Given the description of an element on the screen output the (x, y) to click on. 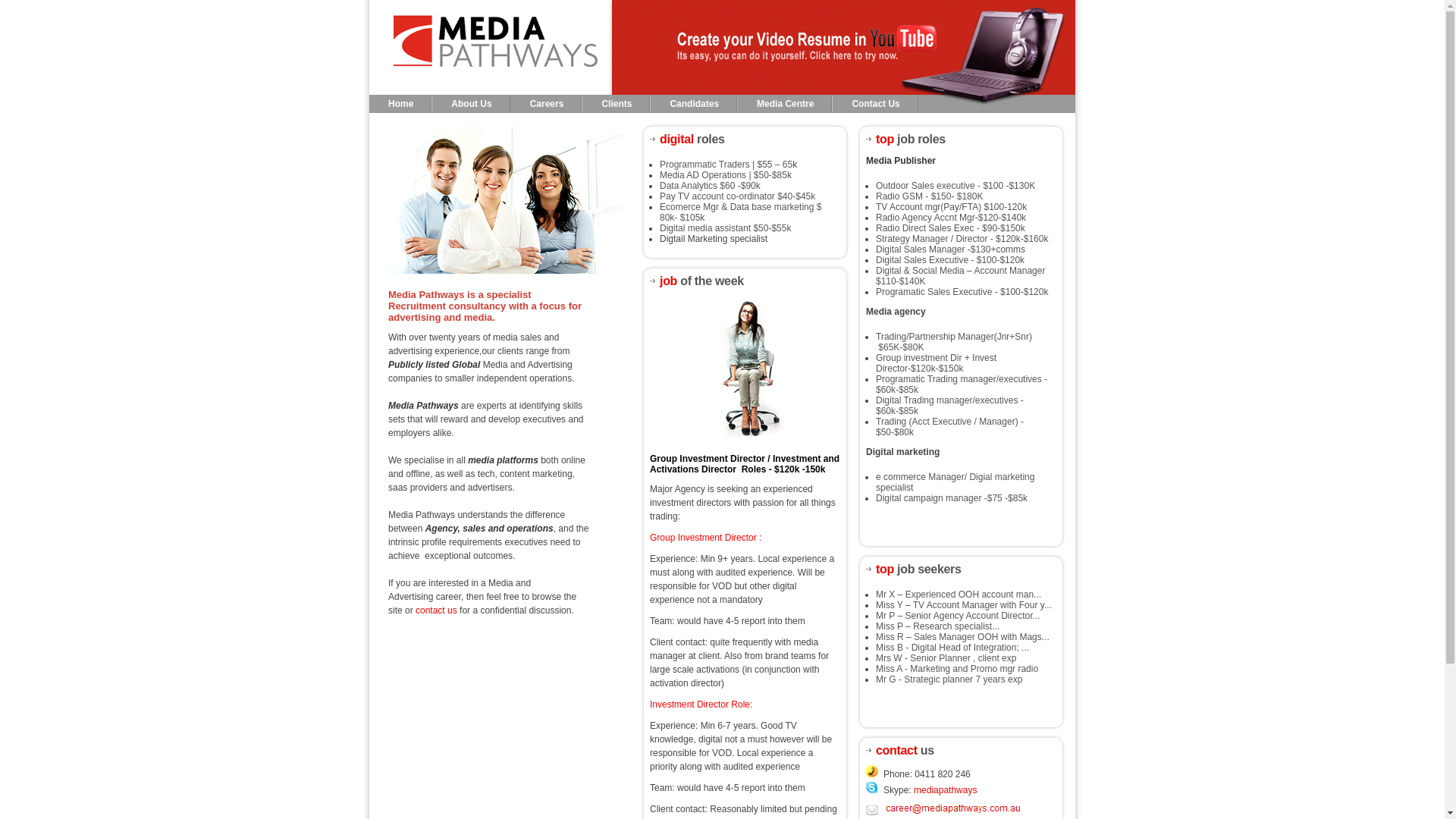
Programatic Trading manager/executives - $60k-$85k Element type: text (961, 384)
Mrs W - Senior Planner , client exp Element type: text (945, 657)
Trading/Partnership Manager(Jnr+Snr)  $65K-$80K Element type: text (953, 341)
Radio Agency Accnt Mgr-$120-$140k Element type: text (950, 217)
HOME Element type: hover (490, 47)
Digital Trading manager/executives - $60k-$85k Element type: text (949, 405)
Programatic Sales Executive - $100-$120k Element type: text (961, 291)
Radio Direct Sales Exec - $90-$150k Element type: text (950, 227)
Outdoor Sales executive - $100 -$130K Element type: text (955, 185)
Digital Sales Manager -$130+comms Element type: text (950, 249)
Digital Sales Executive - $100-$120k Element type: text (949, 259)
Digital media assistant $50-$55k Element type: text (724, 227)
Home Element type: text (400, 103)
About Us Element type: text (471, 103)
Media AD Operations | $50-$85k Element type: text (725, 174)
Mr G - Strategic planner 7 years exp Element type: text (948, 679)
Clients Element type: text (616, 103)
Careers Element type: text (547, 103)
Trading (Acct Executive / Manager) - $50-$80k Element type: text (949, 426)
Group investment Dir + Invest Director-$120k-$150k Element type: text (935, 362)
Radio GSM - $150- $180K Element type: text (928, 196)
Pay TV account co-ordinator $40-$45k Element type: text (737, 196)
Miss B - Digital Head of Integration; ... Element type: text (952, 647)
Digital campaign manager -$75 -$85k Element type: text (951, 497)
e commerce Manager/ Digial marketing specialist  Element type: text (954, 481)
contact us Element type: text (436, 610)
Miss A - Marketing and Promo mgr radio Element type: text (956, 668)
Media Centre Element type: text (784, 103)
Ecomerce Mgr & Data base marketing $ 80k- $105k Element type: text (740, 211)
Data Analytics $60 -$90k Element type: text (709, 185)
mediapathways Element type: text (944, 789)
Strategy Manager / Director - $120k-$160k Element type: text (961, 238)
TV Account mgr(Pay/FTA) $100-120k Element type: text (950, 206)
Candidates Element type: text (693, 103)
Contact Us Element type: text (875, 103)
